Given the description of an element on the screen output the (x, y) to click on. 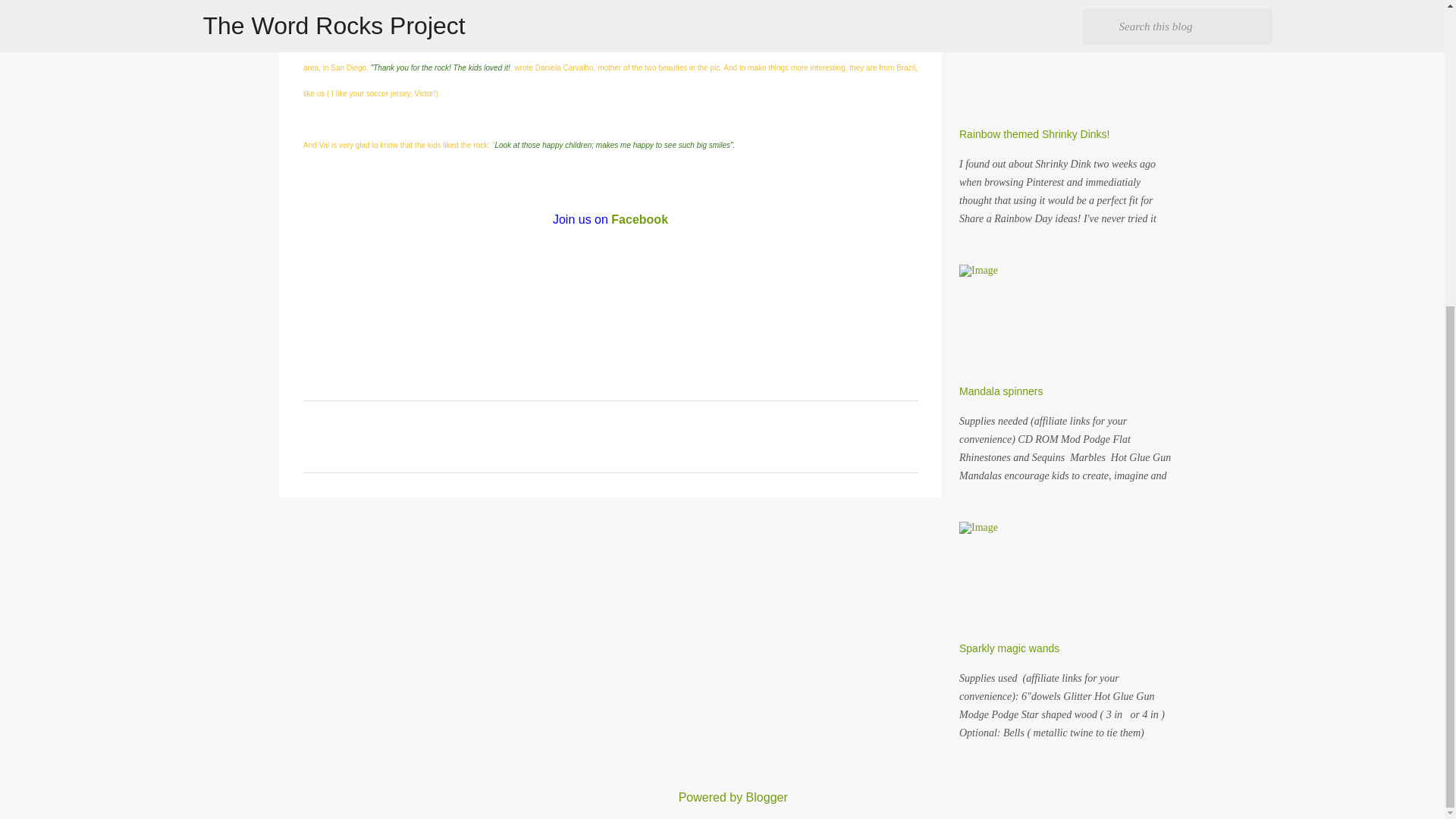
Sparkly magic wands (1009, 648)
Rainbow themed Shrinky Dinks! (1034, 133)
Facebook (639, 219)
Mandala spinners (1001, 390)
Powered by Blogger (721, 797)
